Given the description of an element on the screen output the (x, y) to click on. 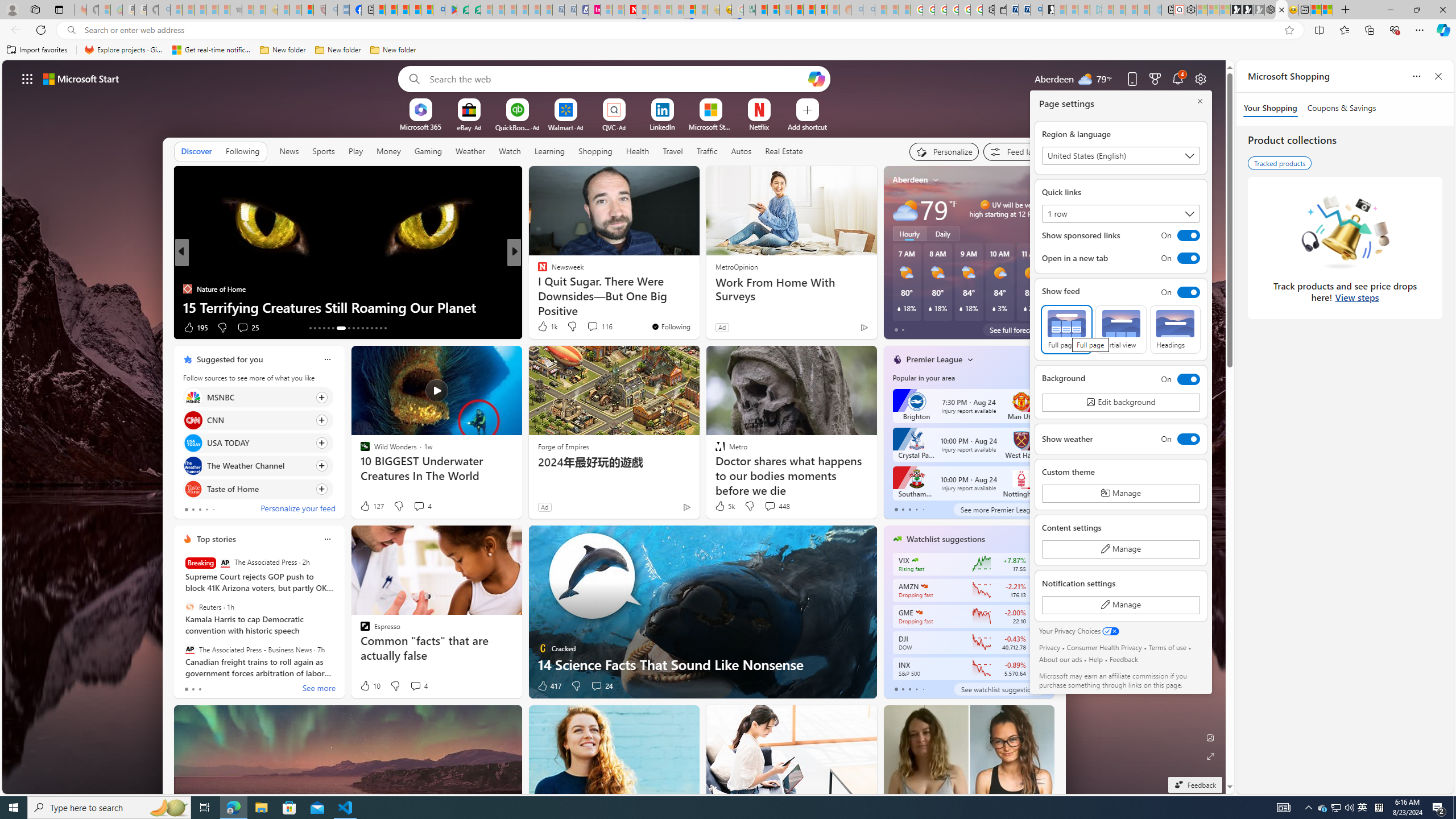
Your Privacy Choices (1079, 631)
Watchlist suggestions (945, 538)
Combat Siege (236, 9)
Terms of Use Agreement (462, 9)
AutomationID: tab-16 (323, 328)
Mostly cloudy (904, 208)
Health Digest (537, 288)
Class: follow-button  m (1034, 668)
View comments 448 Comment (770, 505)
